Given the description of an element on the screen output the (x, y) to click on. 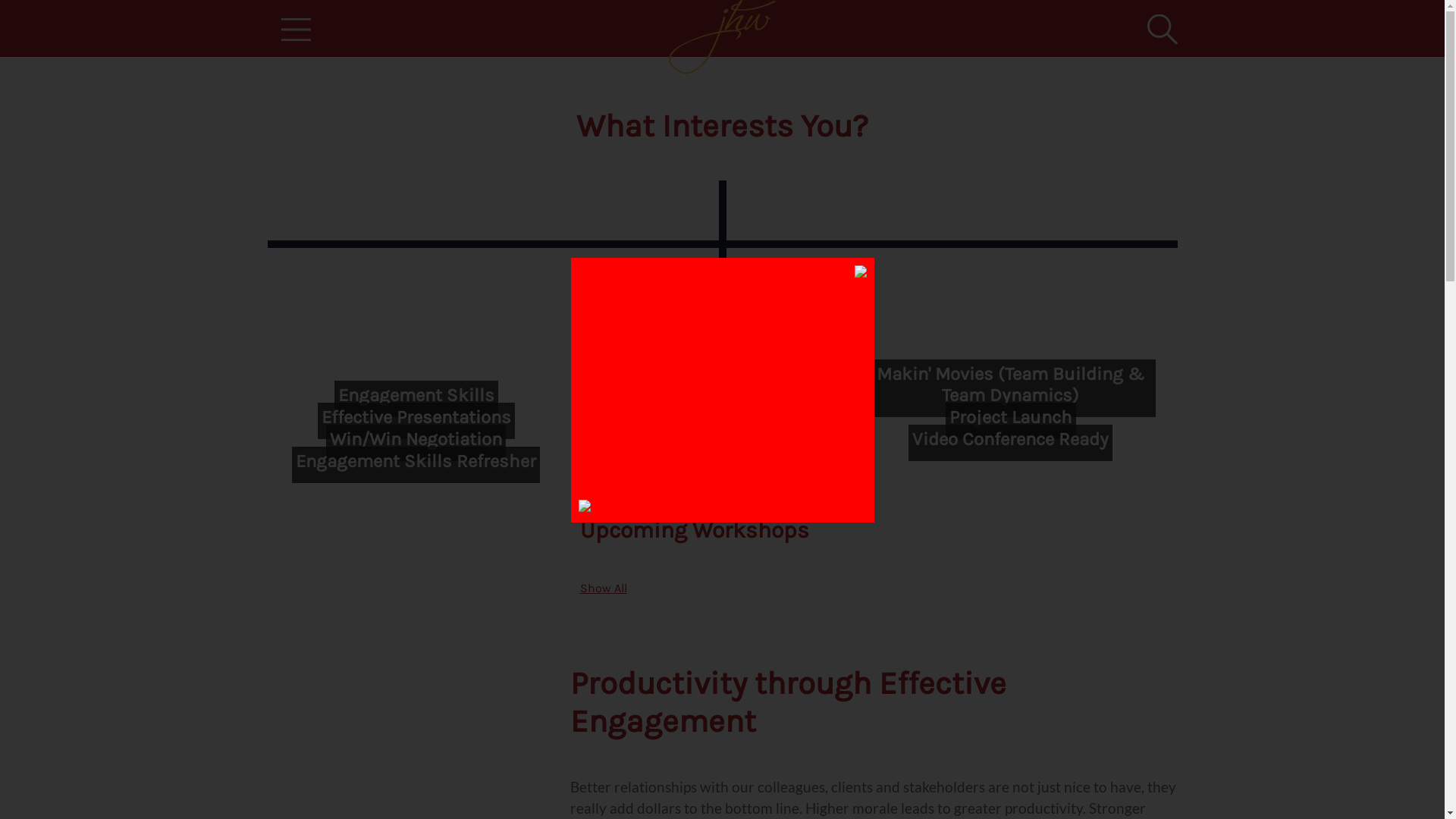
Show All Element type: text (602, 587)
